Given the description of an element on the screen output the (x, y) to click on. 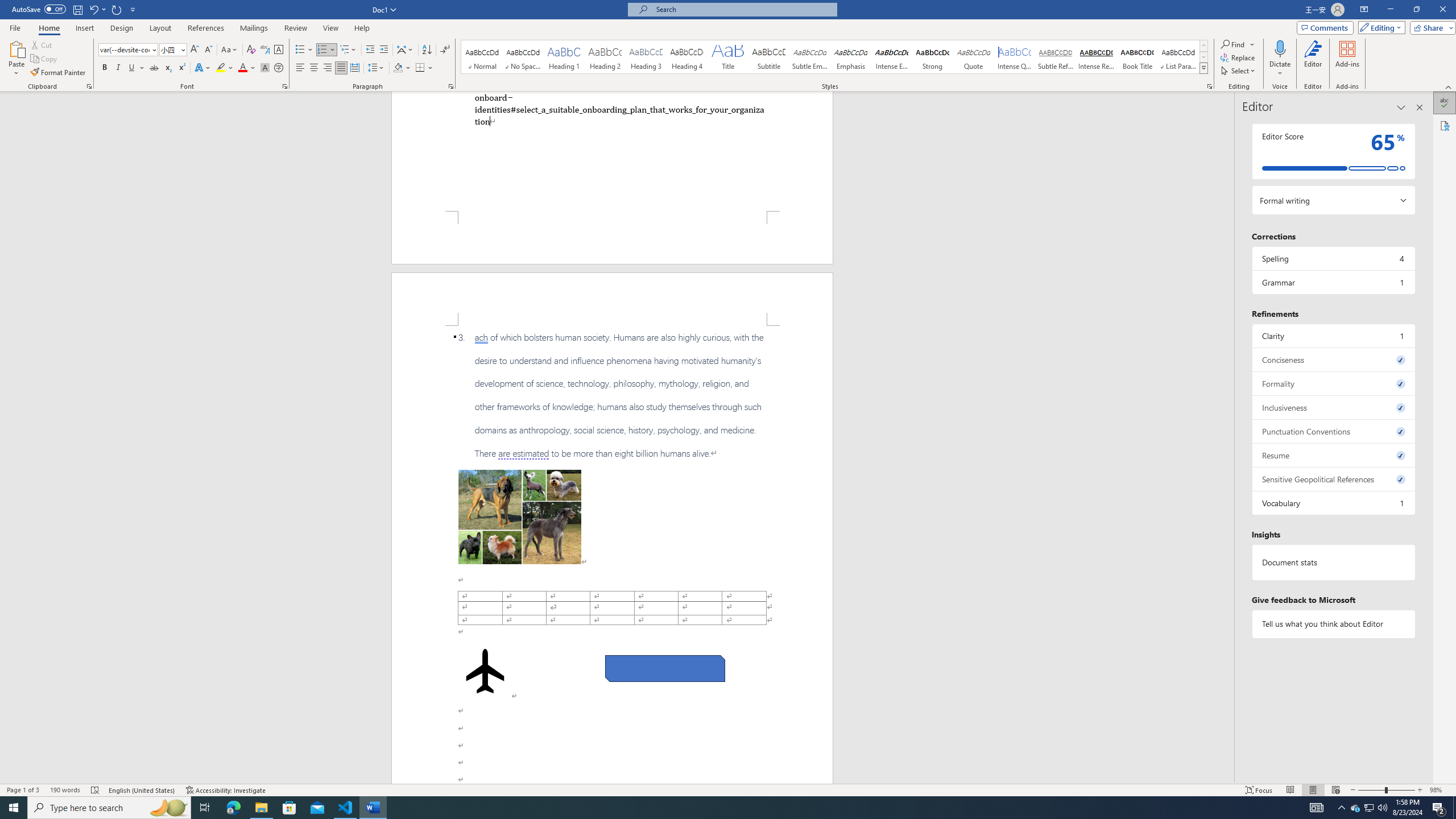
2. (619, 108)
Airplane with solid fill (485, 670)
Vocabulary, 1 issue. Press space or enter to review items. (1333, 502)
